Given the description of an element on the screen output the (x, y) to click on. 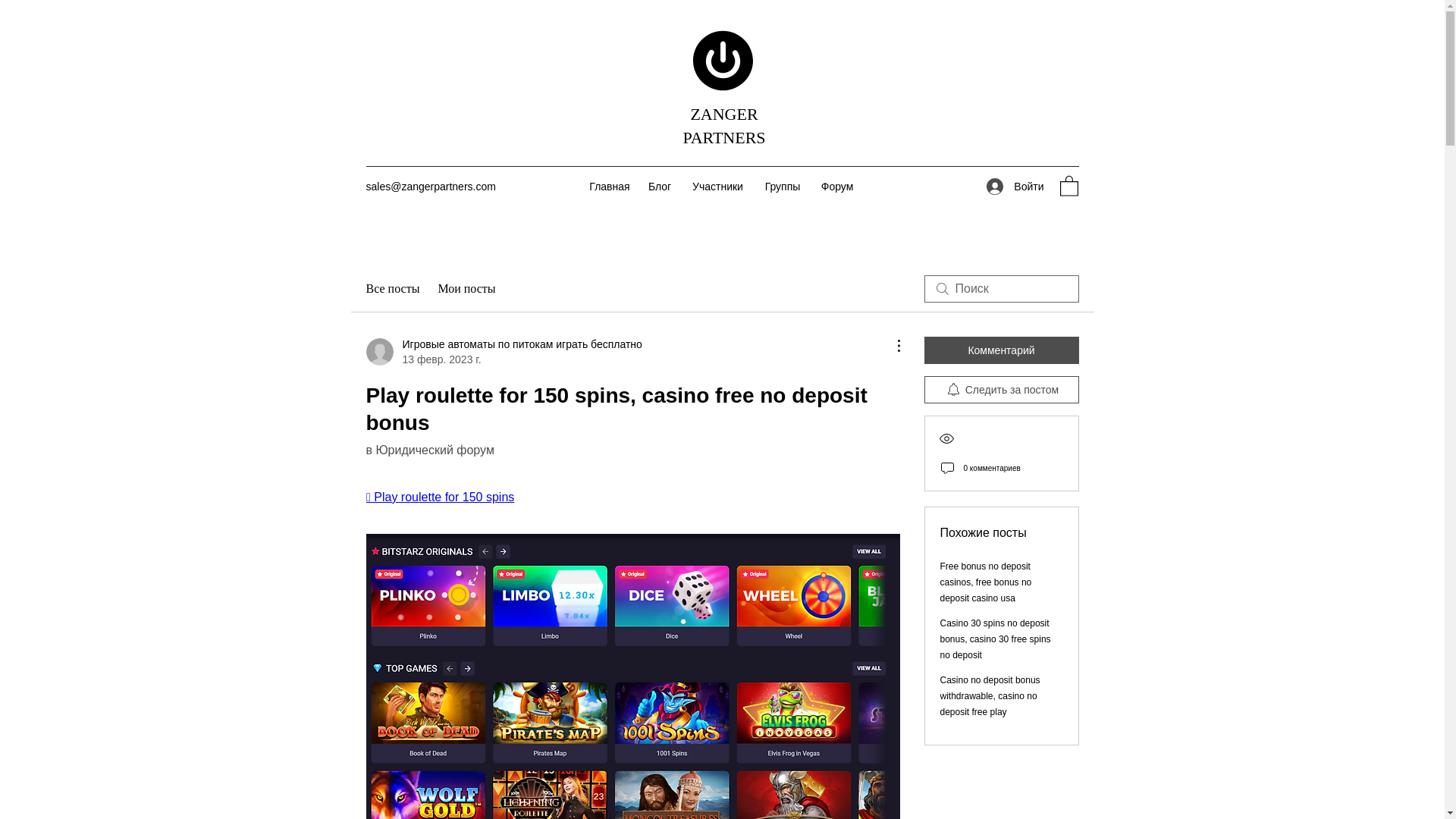
ZANGER PARTNERS (723, 125)
